Given the description of an element on the screen output the (x, y) to click on. 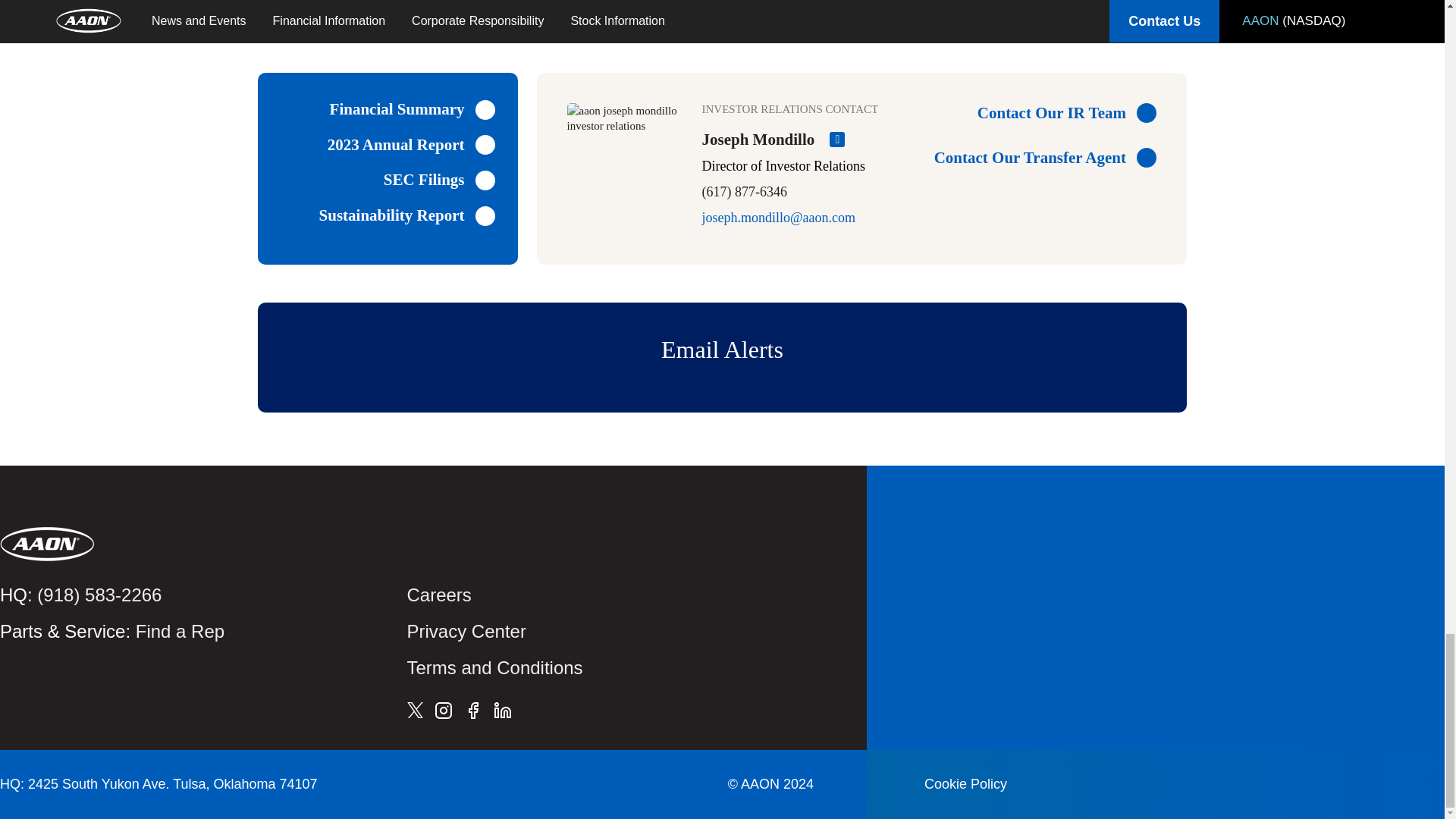
2023 Annual Report (411, 144)
Contact Our IR Team (1038, 112)
Find a Rep (179, 630)
SEC Filings (439, 179)
Financial Summary (412, 108)
Careers (438, 594)
Contact Our Transfer Agent (1038, 157)
Sustainability Report (406, 215)
Privacy Center (465, 630)
Terms and Conditions (494, 667)
